Given the description of an element on the screen output the (x, y) to click on. 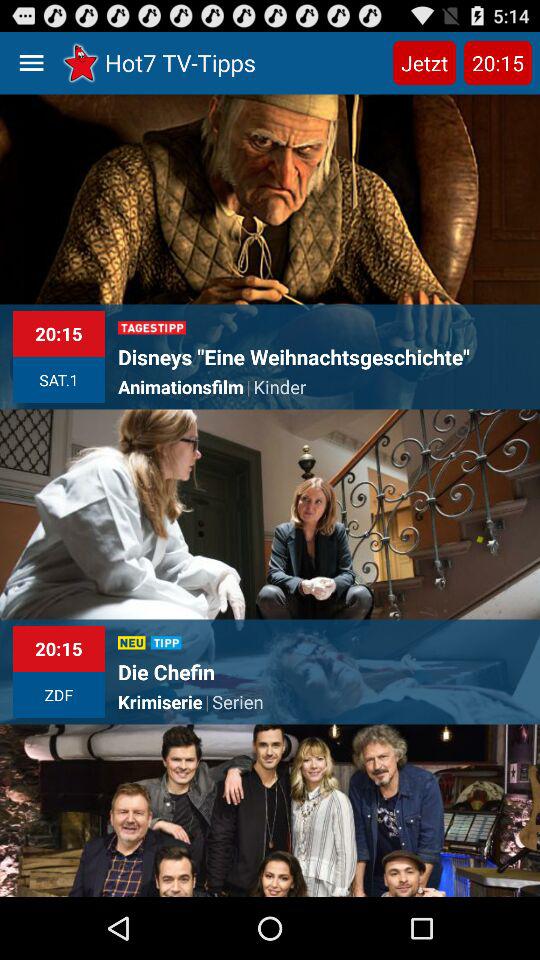
swipe until the jetzt item (424, 62)
